Given the description of an element on the screen output the (x, y) to click on. 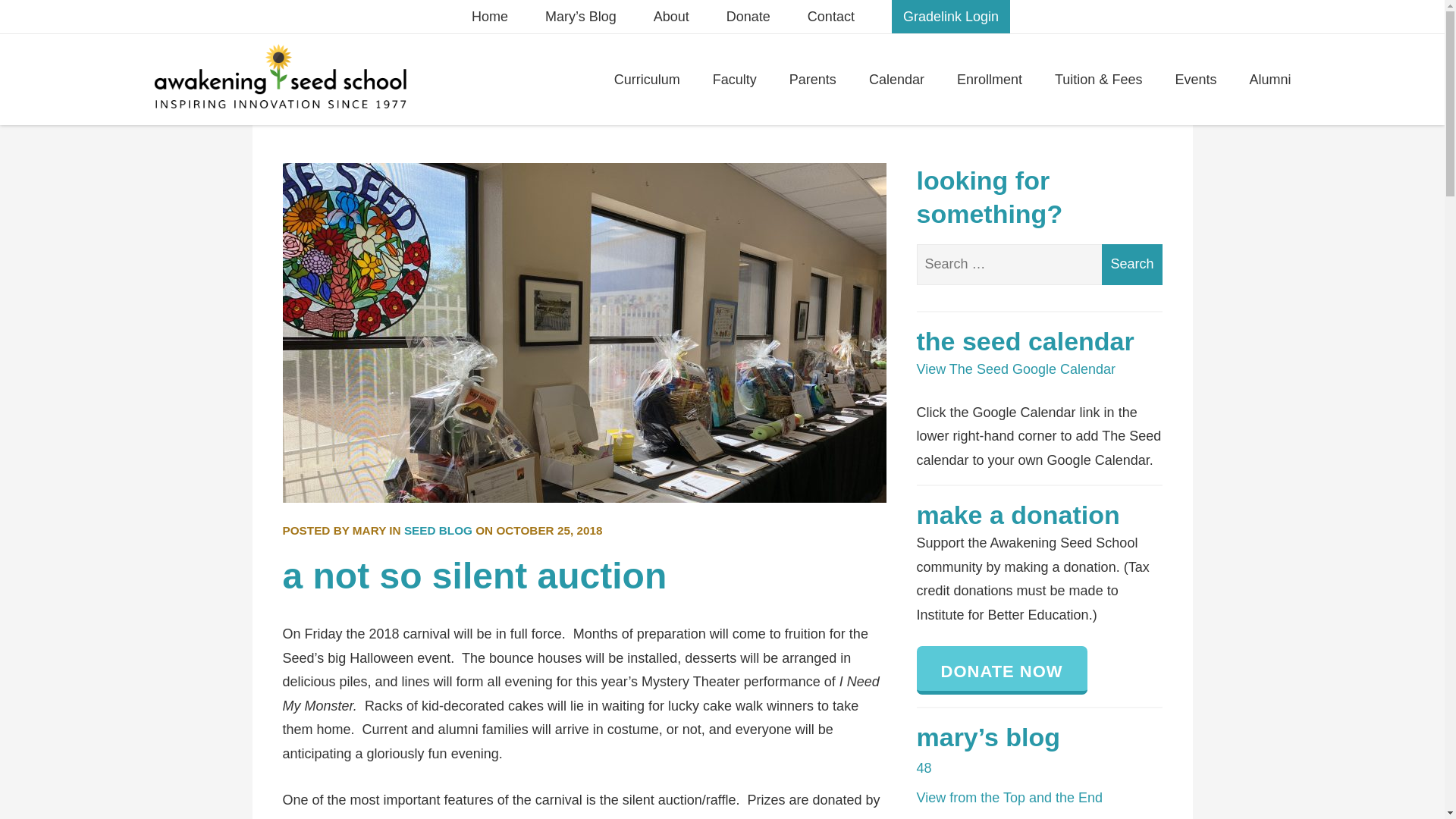
Contact (831, 16)
About (670, 16)
Donate (748, 16)
Gradelink Login (950, 16)
Search (1131, 264)
Home (489, 16)
Search (1131, 264)
Search (938, 336)
